Given the description of an element on the screen output the (x, y) to click on. 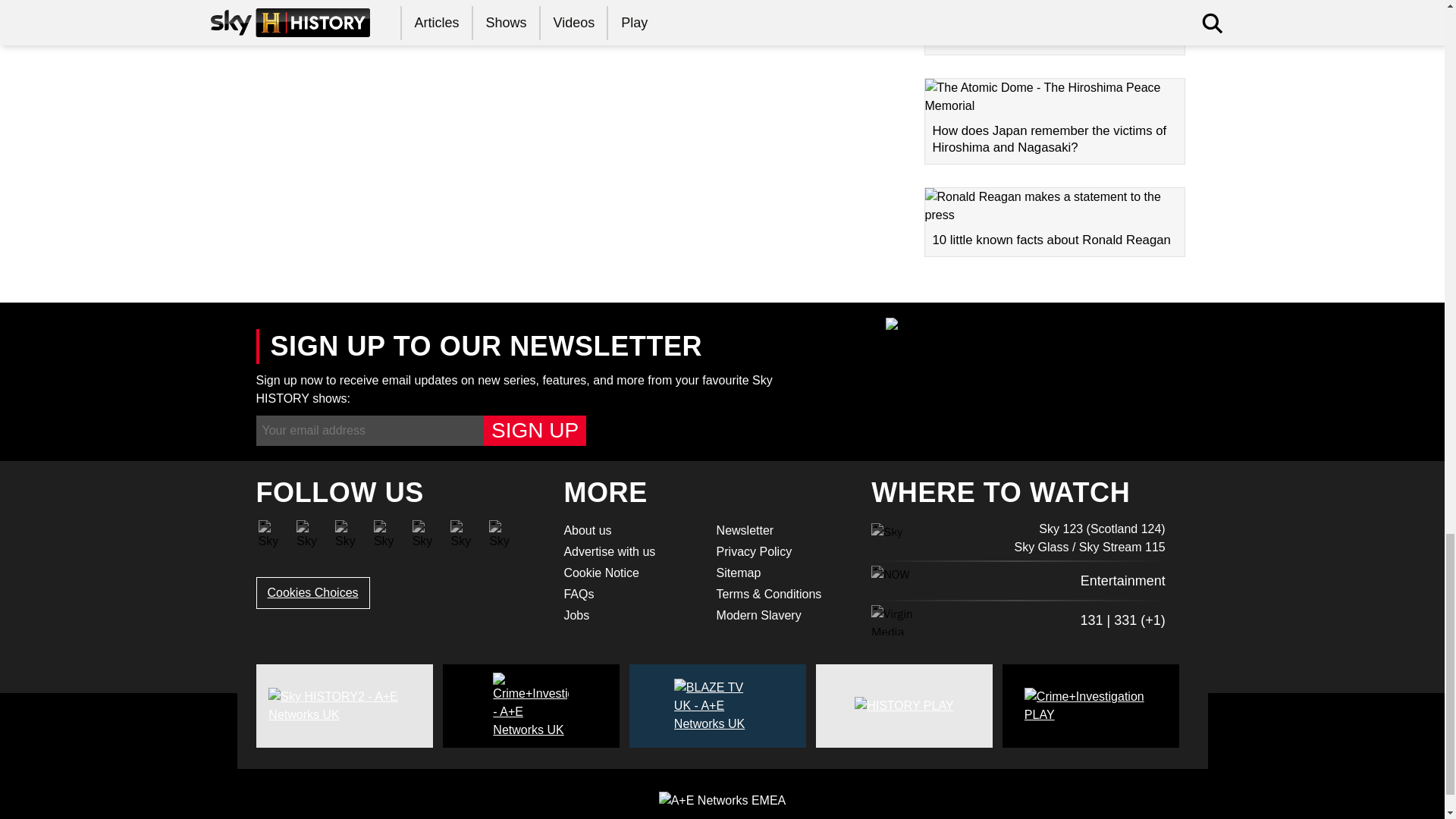
Sitemap (783, 573)
10 little known facts about Ronald Reagan (1054, 222)
Advertise with us (630, 551)
FAQs (630, 594)
Are aliens or artists behind the monolith mystery (1054, 28)
Privacy Policy (783, 551)
Cookie Notice (630, 573)
Sitemap of the site (783, 573)
Jobs (630, 615)
